Given the description of an element on the screen output the (x, y) to click on. 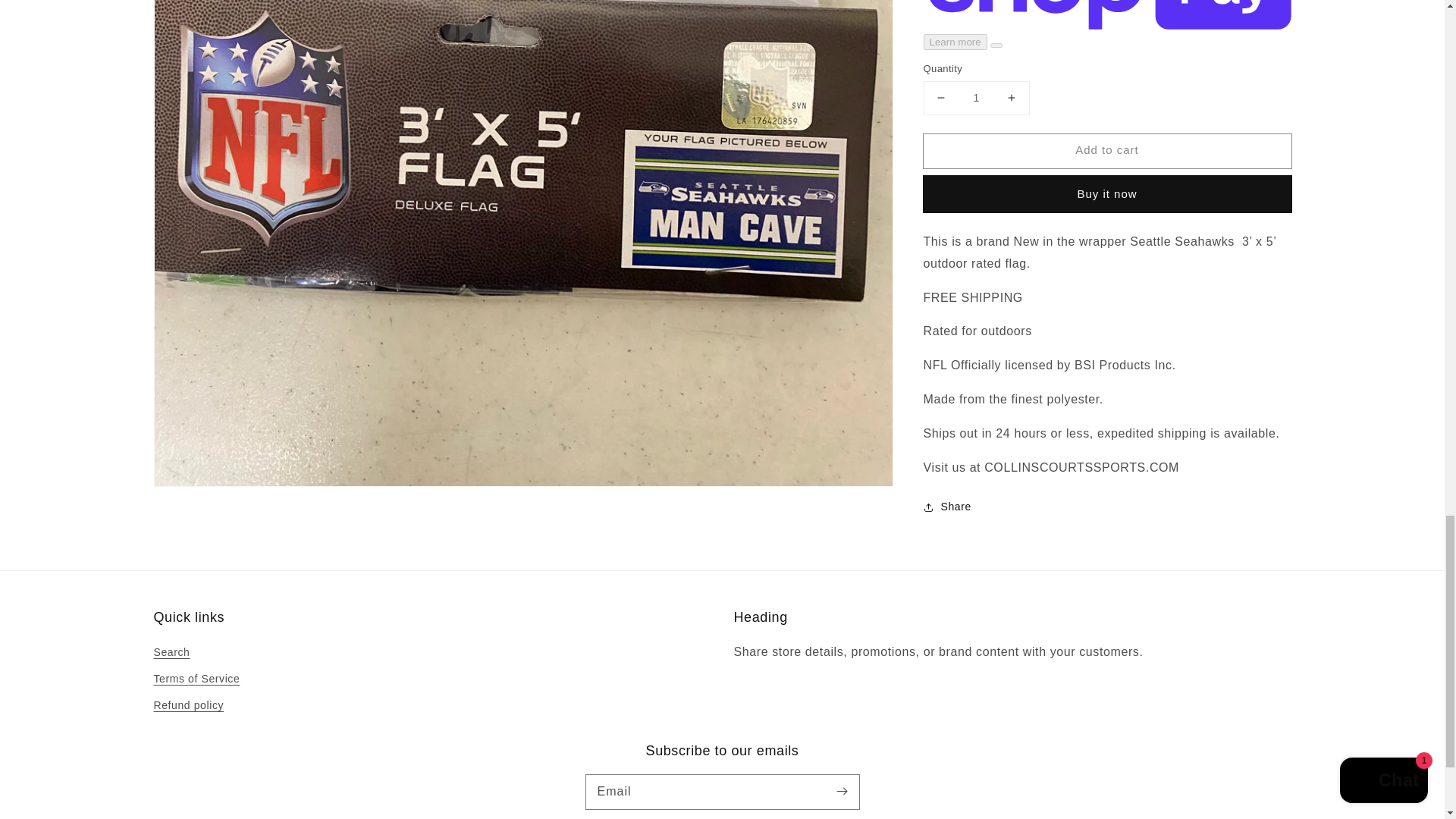
Search (170, 653)
Terms of Service (196, 678)
Refund policy (188, 705)
